Given the description of an element on the screen output the (x, y) to click on. 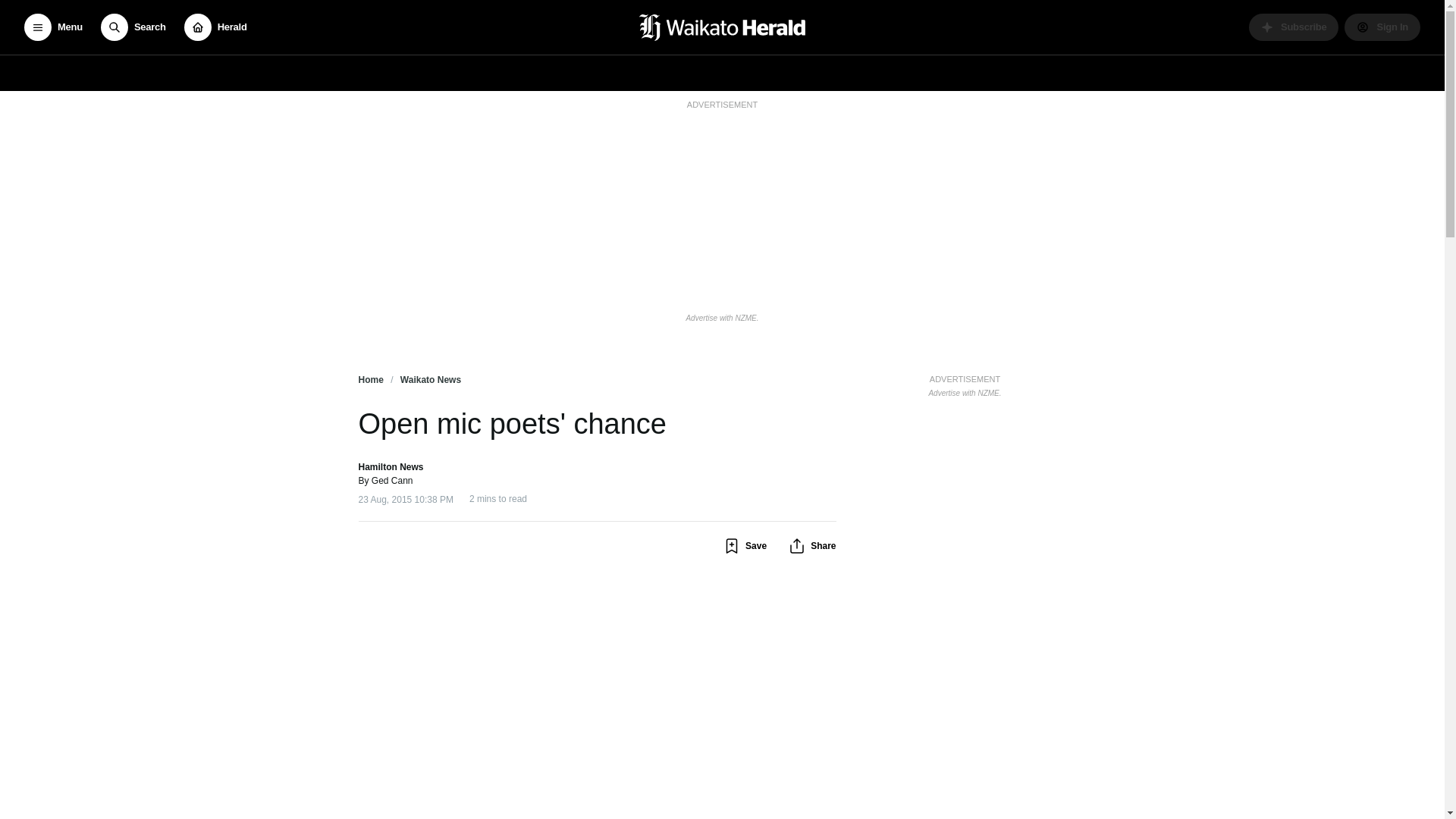
Menu (53, 26)
Search (132, 26)
Manage your account (1382, 26)
Sign In (1382, 26)
Subscribe (1294, 26)
Herald (215, 26)
